Given the description of an element on the screen output the (x, y) to click on. 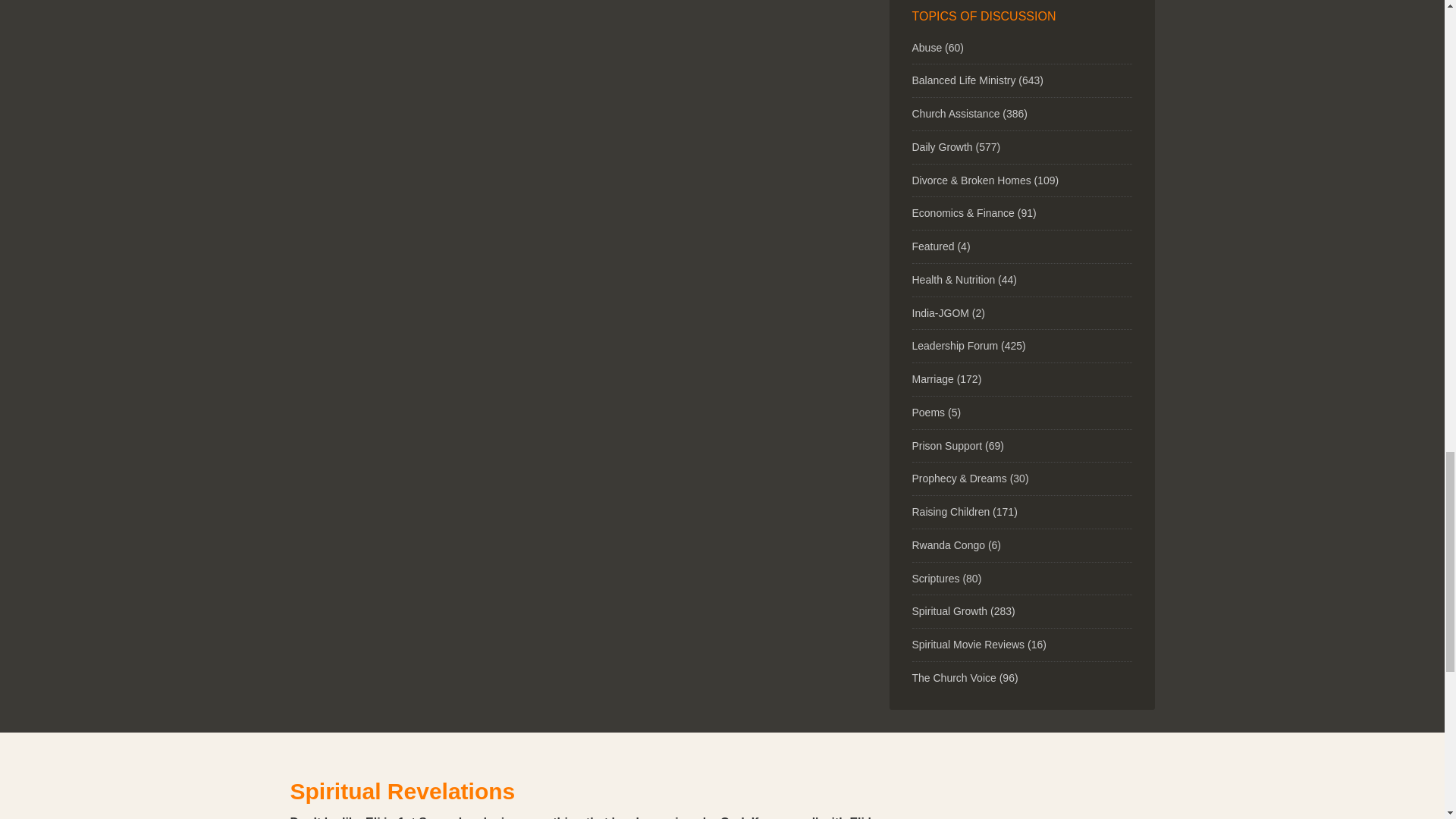
Daily Bible Scriptures (935, 577)
